Given the description of an element on the screen output the (x, y) to click on. 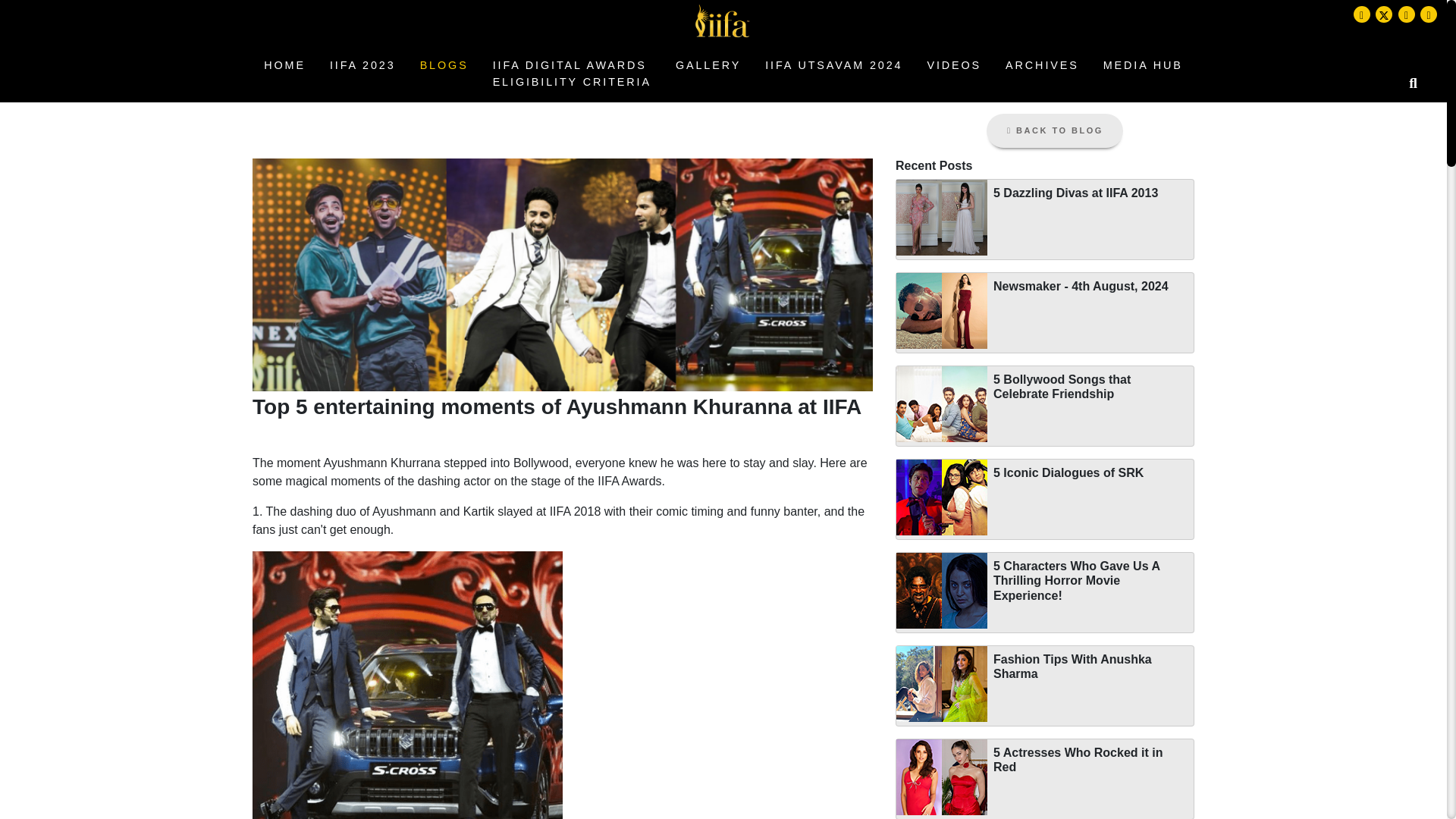
BACK TO BLOG (1054, 130)
HOME (284, 65)
IIFA UTSAVAM 2024 (833, 65)
IIFA 2023 (572, 73)
MEDIA HUB (362, 65)
GALLERY (1143, 65)
ARCHIVES (707, 65)
VIDEOS (1041, 65)
